Given the description of an element on the screen output the (x, y) to click on. 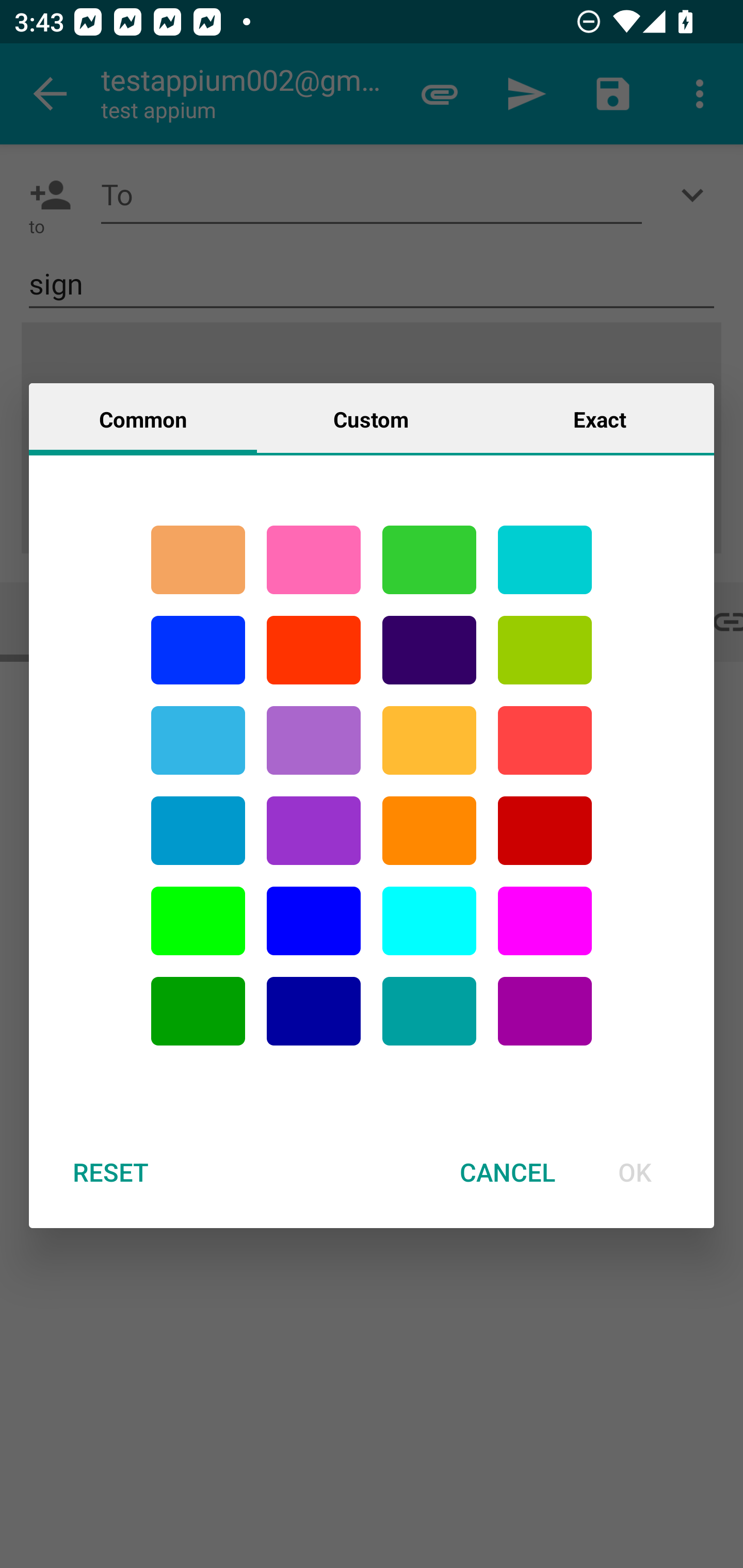
Common (142, 418)
Custom (371, 418)
Exact (599, 418)
Peach (197, 559)
Pink (313, 559)
Green (429, 559)
Cyan (544, 559)
Blue (197, 649)
Red (313, 649)
Dark purple (429, 649)
Light green (544, 649)
Cyan (197, 739)
Purple (313, 739)
Light orange (429, 739)
Light red (544, 739)
Dark cyan (197, 830)
Purple (313, 830)
Orange (429, 830)
Dark red (544, 830)
Light green (197, 920)
Blue (313, 920)
Light cyan (429, 920)
Light purple (544, 920)
Dark green (197, 1010)
Dark blue (313, 1010)
Cyan (429, 1010)
Purple (544, 1010)
RESET (110, 1171)
CANCEL (507, 1171)
OK (634, 1171)
